Given the description of an element on the screen output the (x, y) to click on. 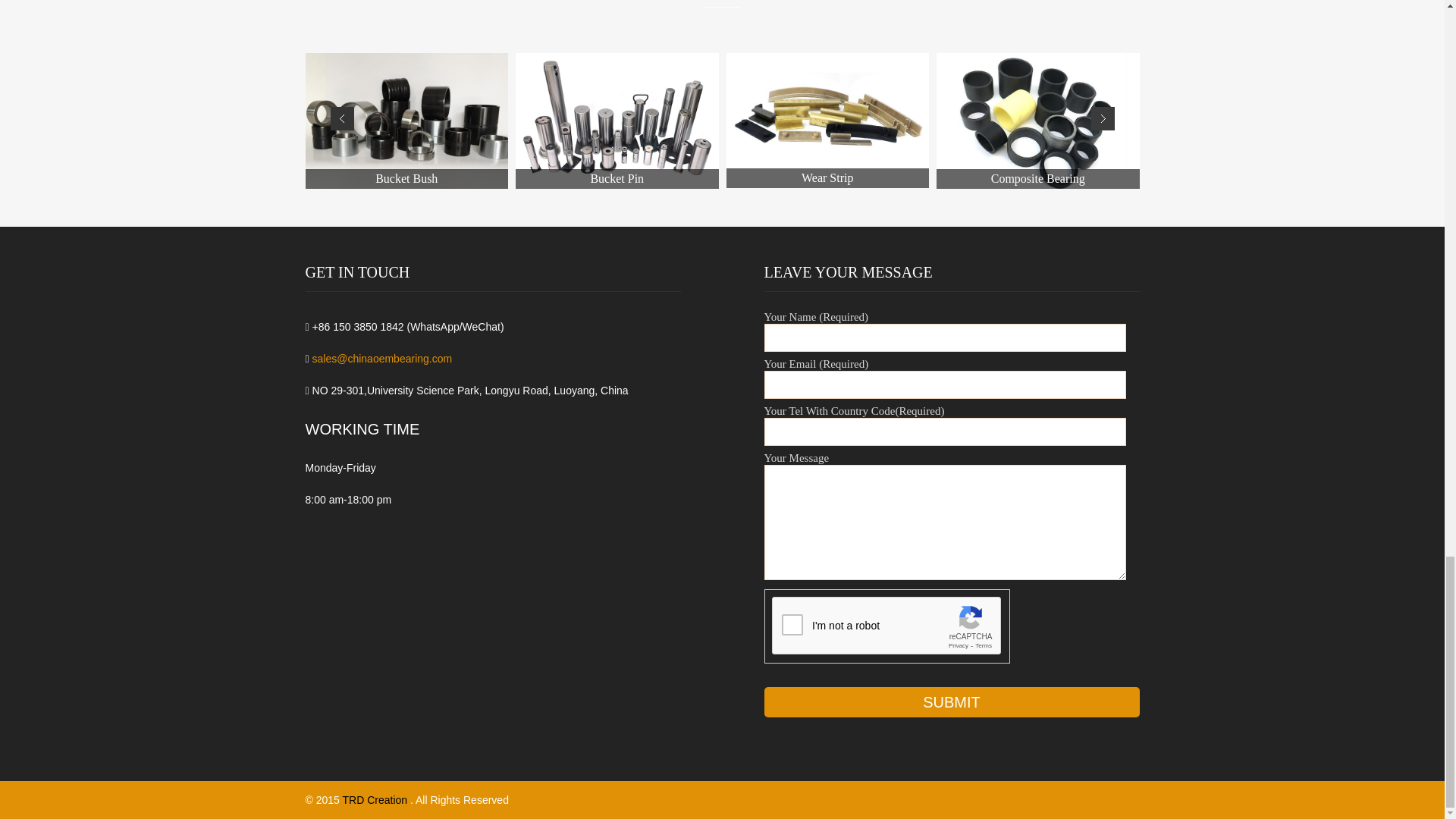
submit (952, 702)
reCAPTCHA (887, 625)
Composite Bearing (1038, 121)
Bucket Bush (406, 121)
Wear Strip (828, 120)
Bucket Pin (617, 121)
